Given the description of an element on the screen output the (x, y) to click on. 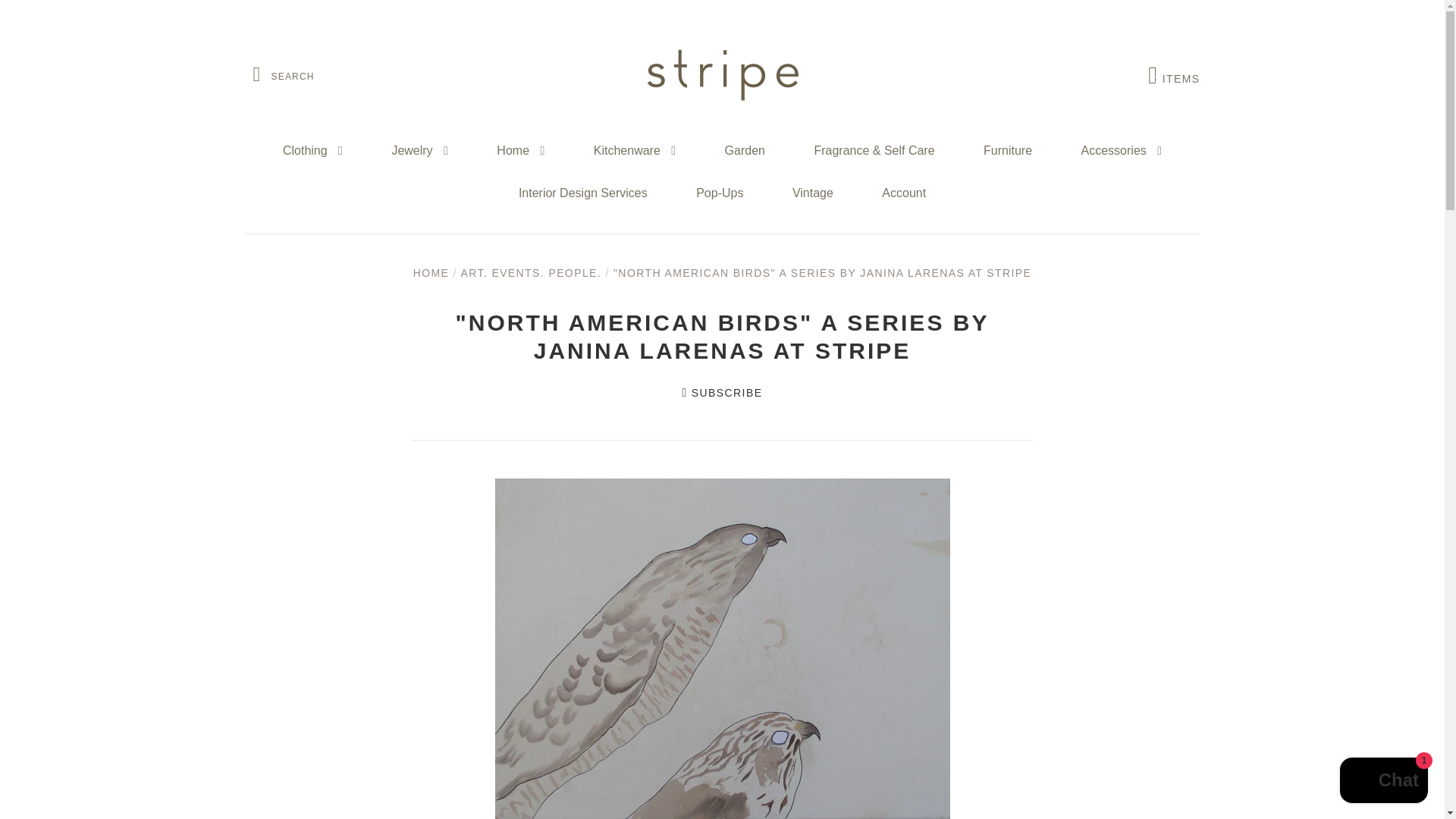
Clothing (312, 150)
Vintage (813, 192)
Home (520, 150)
SUBSCRIBE (722, 392)
HOME (431, 272)
Garden (744, 150)
Furniture (1007, 150)
Interior Design Services (582, 192)
Accessories (1121, 150)
Jewelry (419, 150)
Pop-Ups (1173, 75)
Shopify online store chat (718, 192)
Account (1383, 781)
ART. EVENTS. PEOPLE. (904, 192)
